Given the description of an element on the screen output the (x, y) to click on. 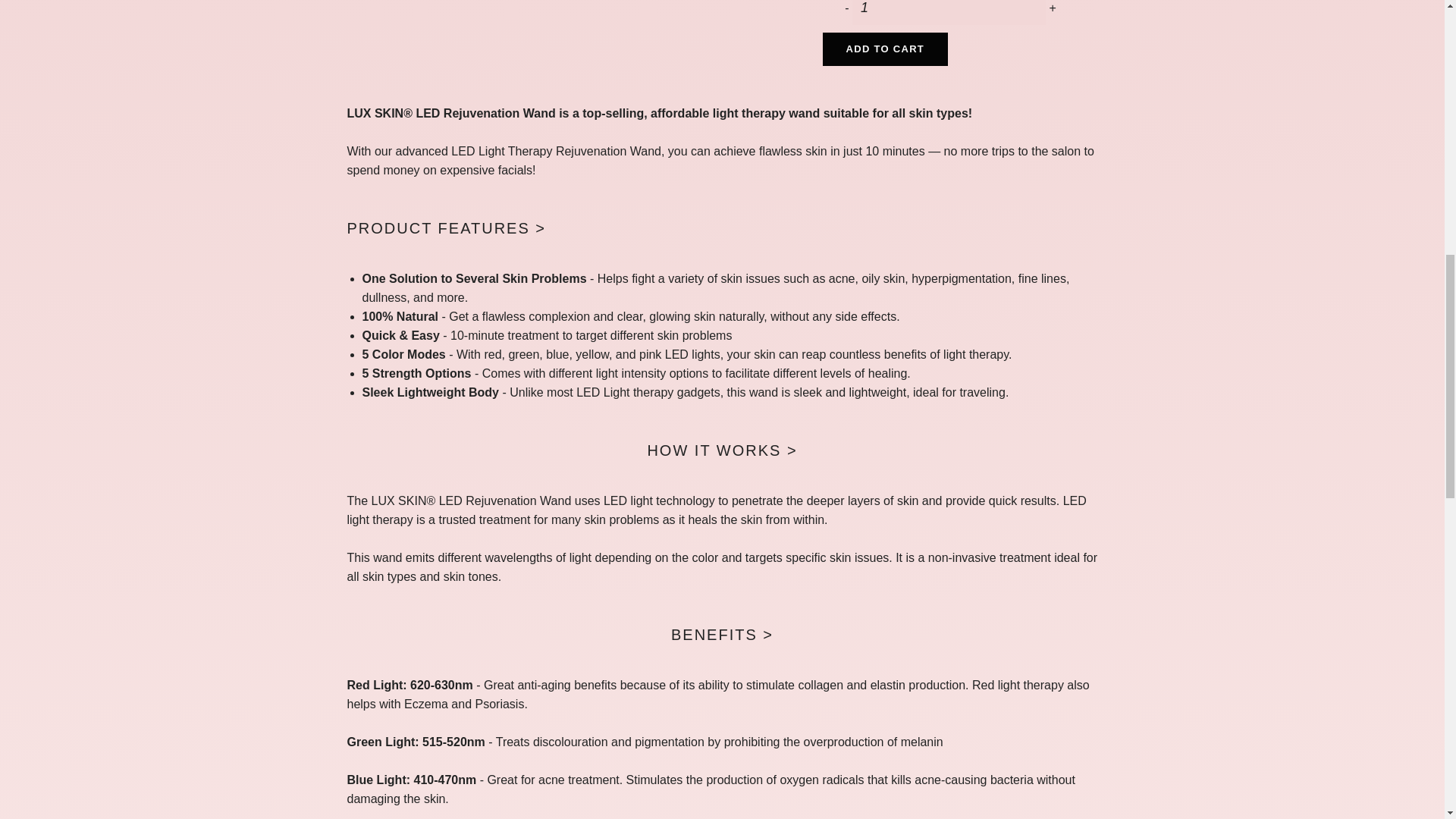
1 (948, 12)
